Given the description of an element on the screen output the (x, y) to click on. 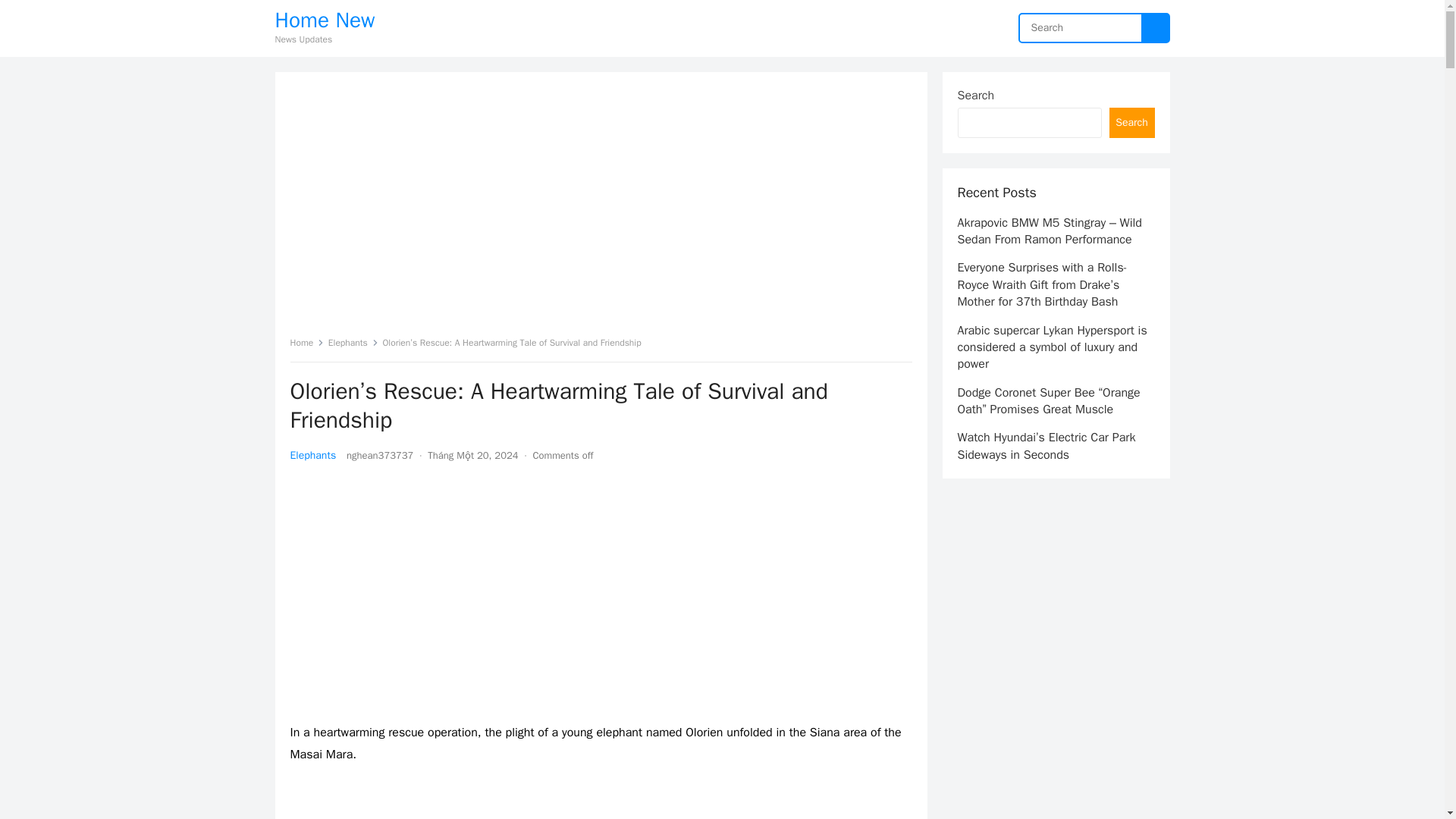
Advertisement (402, 207)
Advertisement (600, 594)
Elephants (312, 454)
Elephants (353, 342)
nghean373737 (379, 454)
Home (306, 342)
Advertisement (402, 801)
Home New (324, 20)
